Given the description of an element on the screen output the (x, y) to click on. 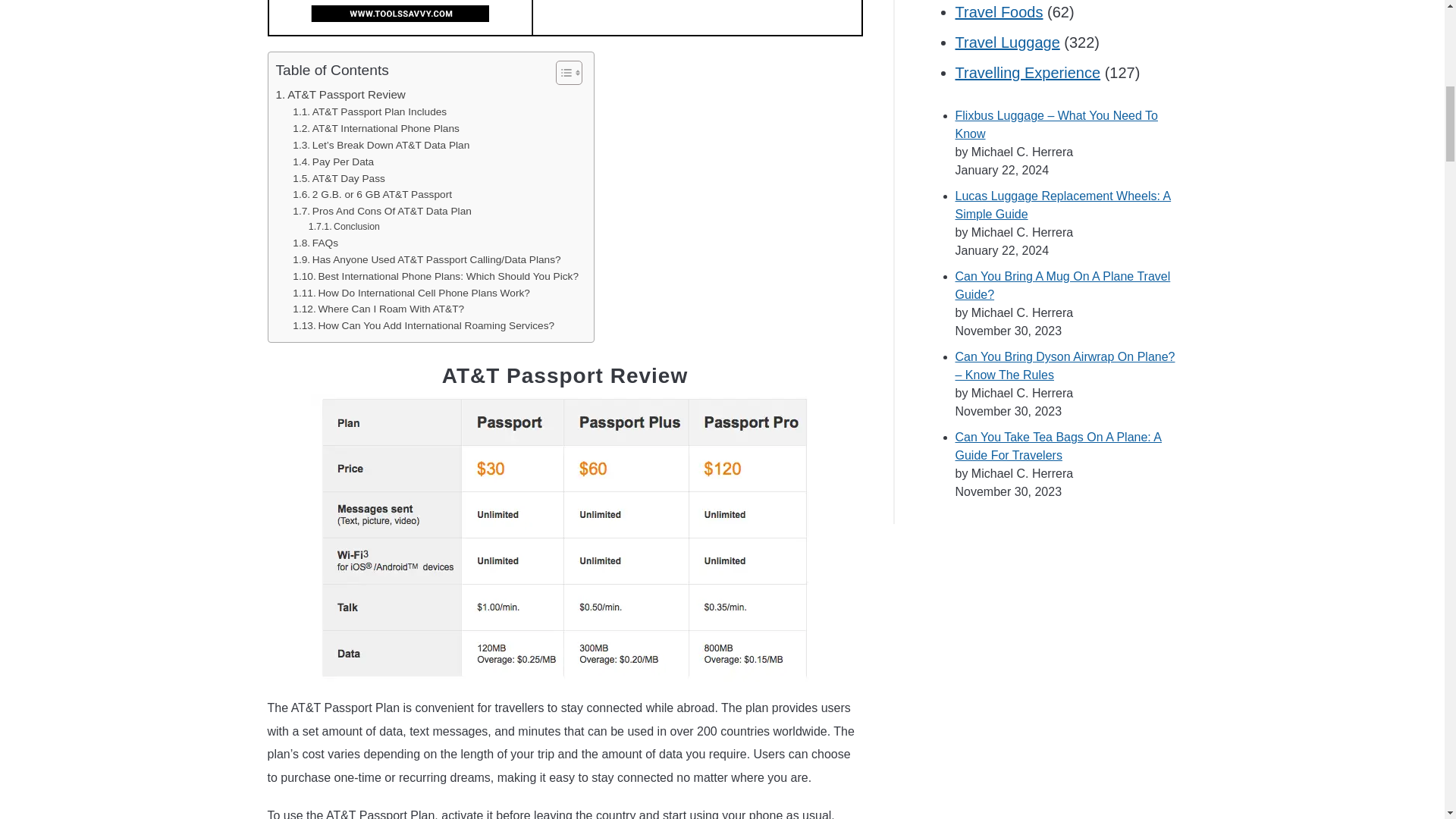
Pay Per Data (333, 161)
How Can You Add International Roaming Services? (423, 325)
Best International Phone Plans: Which Should You Pick? (435, 276)
Pay Per Data (333, 161)
Conclusion (344, 227)
FAQs (314, 243)
FAQs (314, 243)
Conclusion (344, 227)
How Do International Cell Phone Plans Work? (410, 293)
Best International Phone Plans: Which Should You Pick? (435, 276)
How Do International Cell Phone Plans Work? (410, 293)
